Given the description of an element on the screen output the (x, y) to click on. 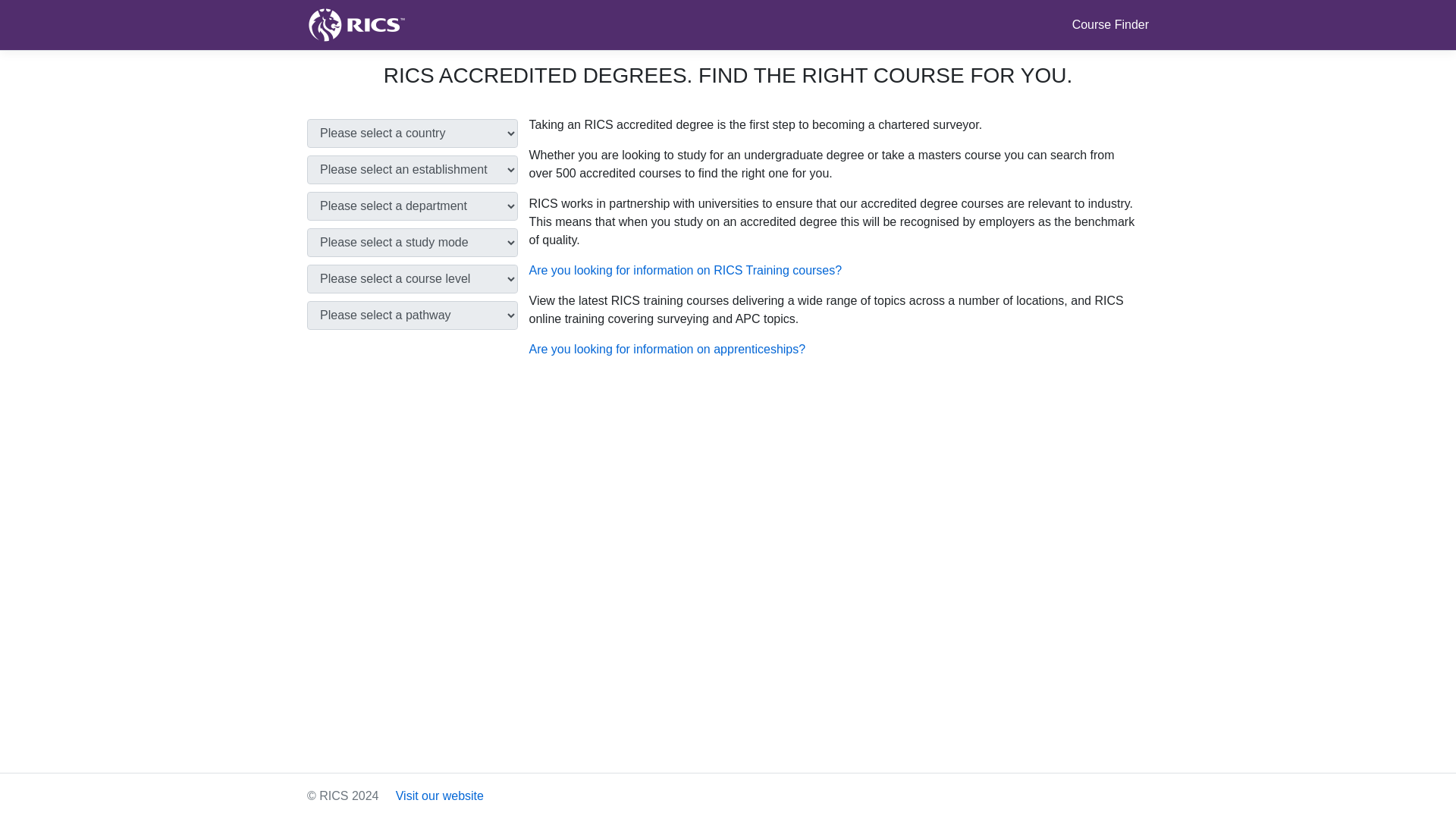
Type of Surveying Discipline (412, 315)
Are you looking for information on RICS Training courses? (686, 269)
Are you looking for information on apprenticeships? (667, 349)
